Given the description of an element on the screen output the (x, y) to click on. 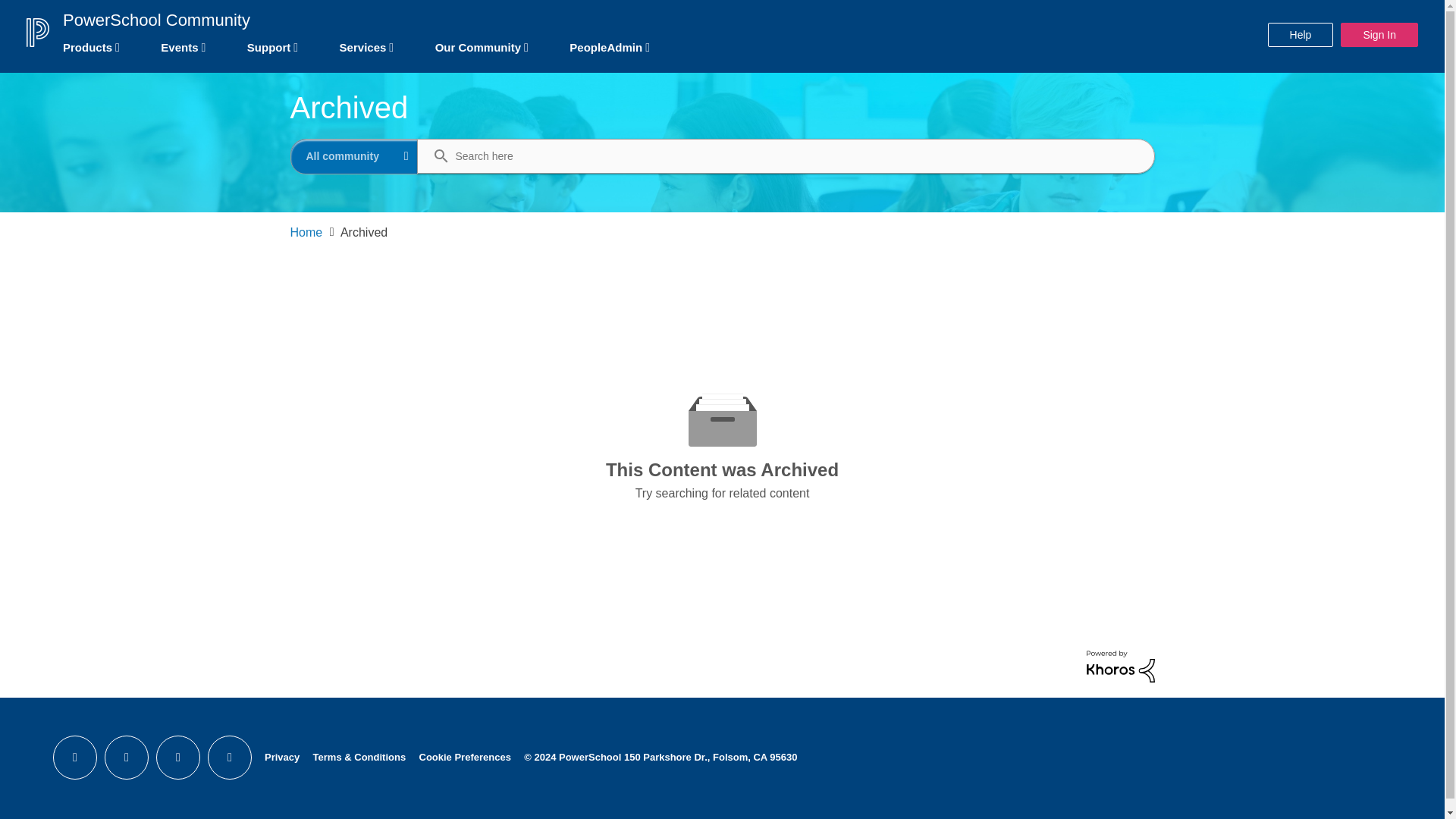
Search (781, 155)
Search (433, 156)
Search (433, 156)
Search Granularity (354, 156)
